Given the description of an element on the screen output the (x, y) to click on. 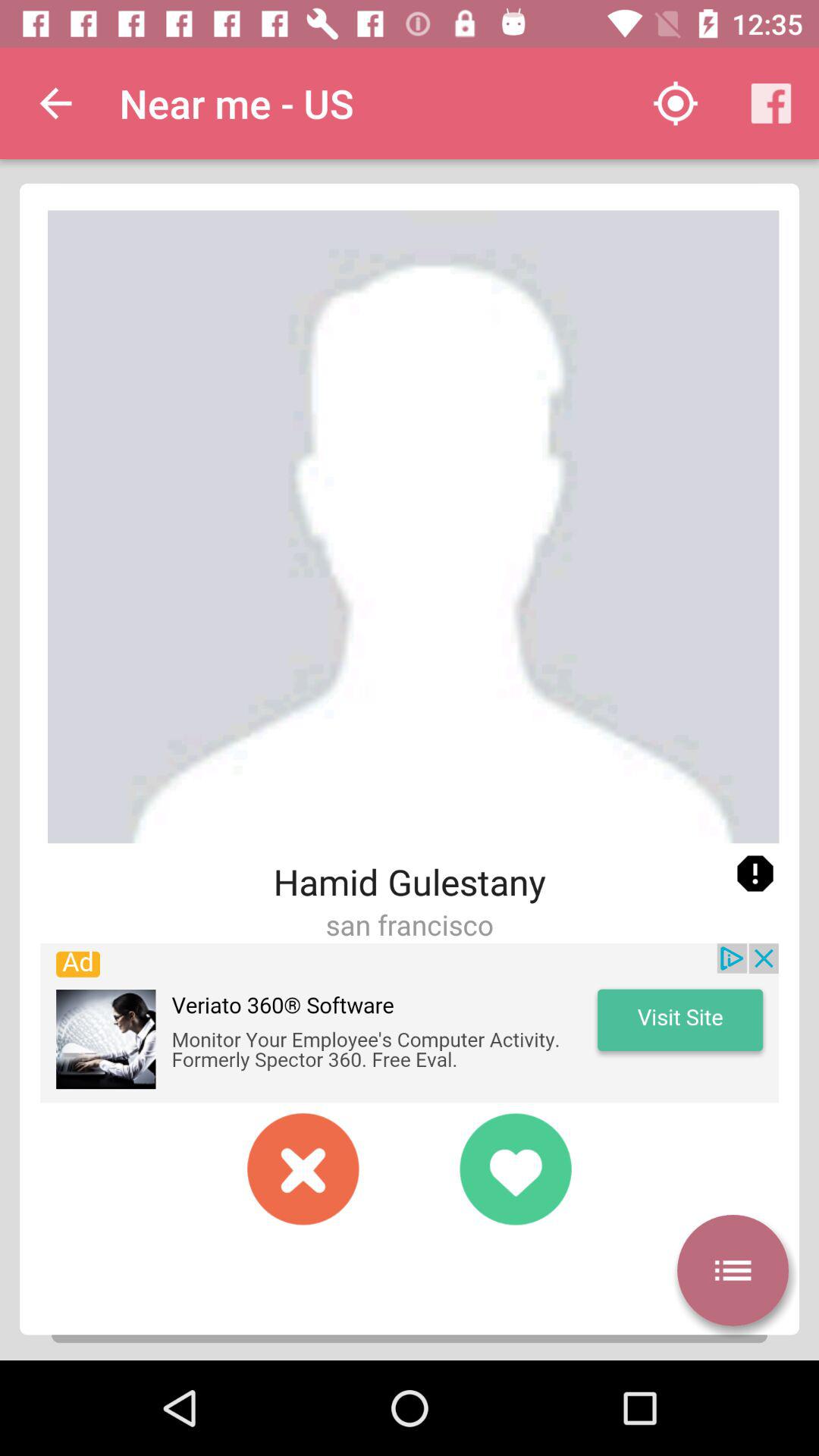
pass (303, 1169)
